Given the description of an element on the screen output the (x, y) to click on. 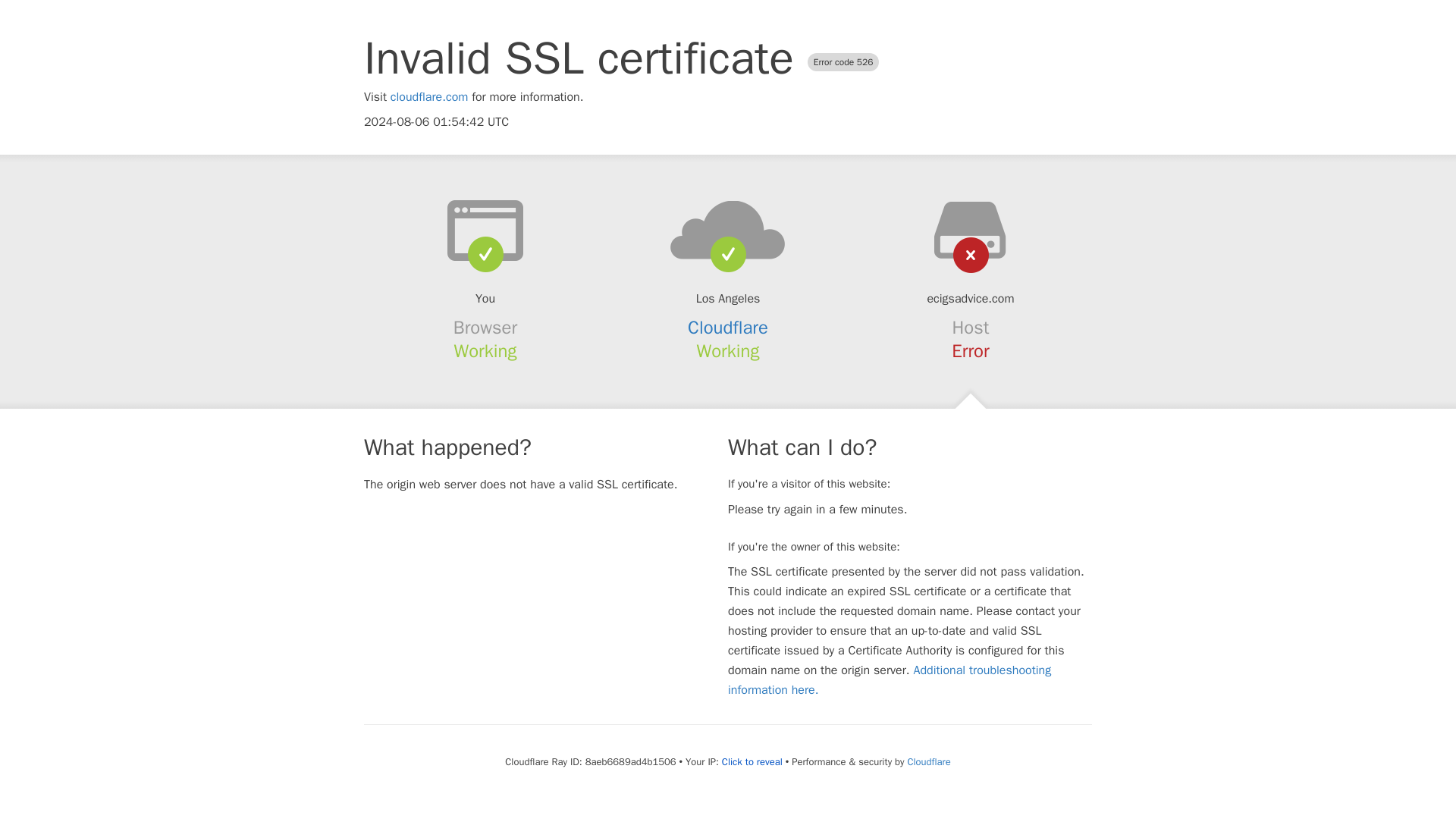
cloudflare.com (429, 96)
Additional troubleshooting information here. (889, 679)
Cloudflare (928, 761)
Click to reveal (752, 762)
Cloudflare (727, 327)
